Given the description of an element on the screen output the (x, y) to click on. 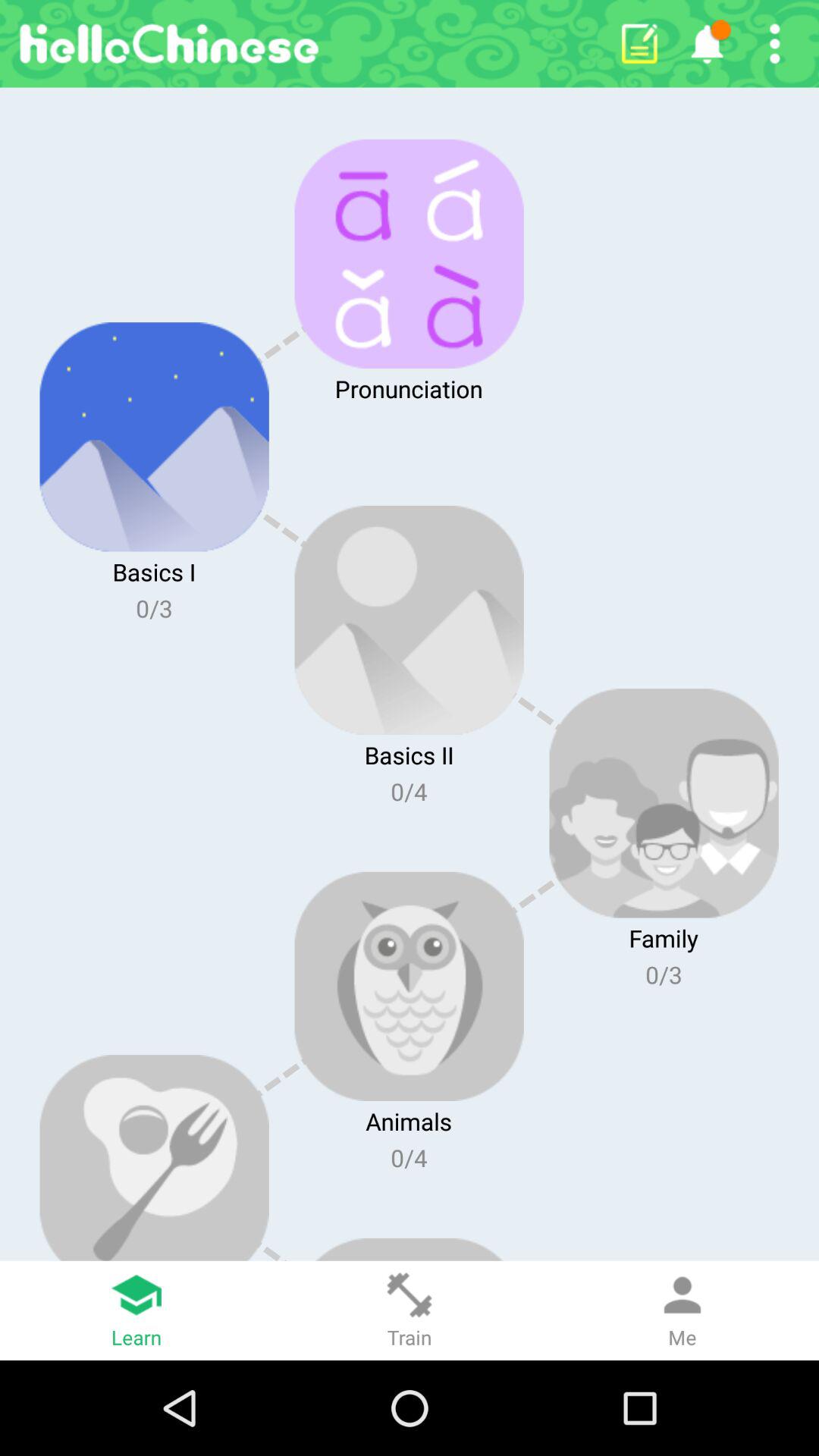
notes (639, 43)
